Given the description of an element on the screen output the (x, y) to click on. 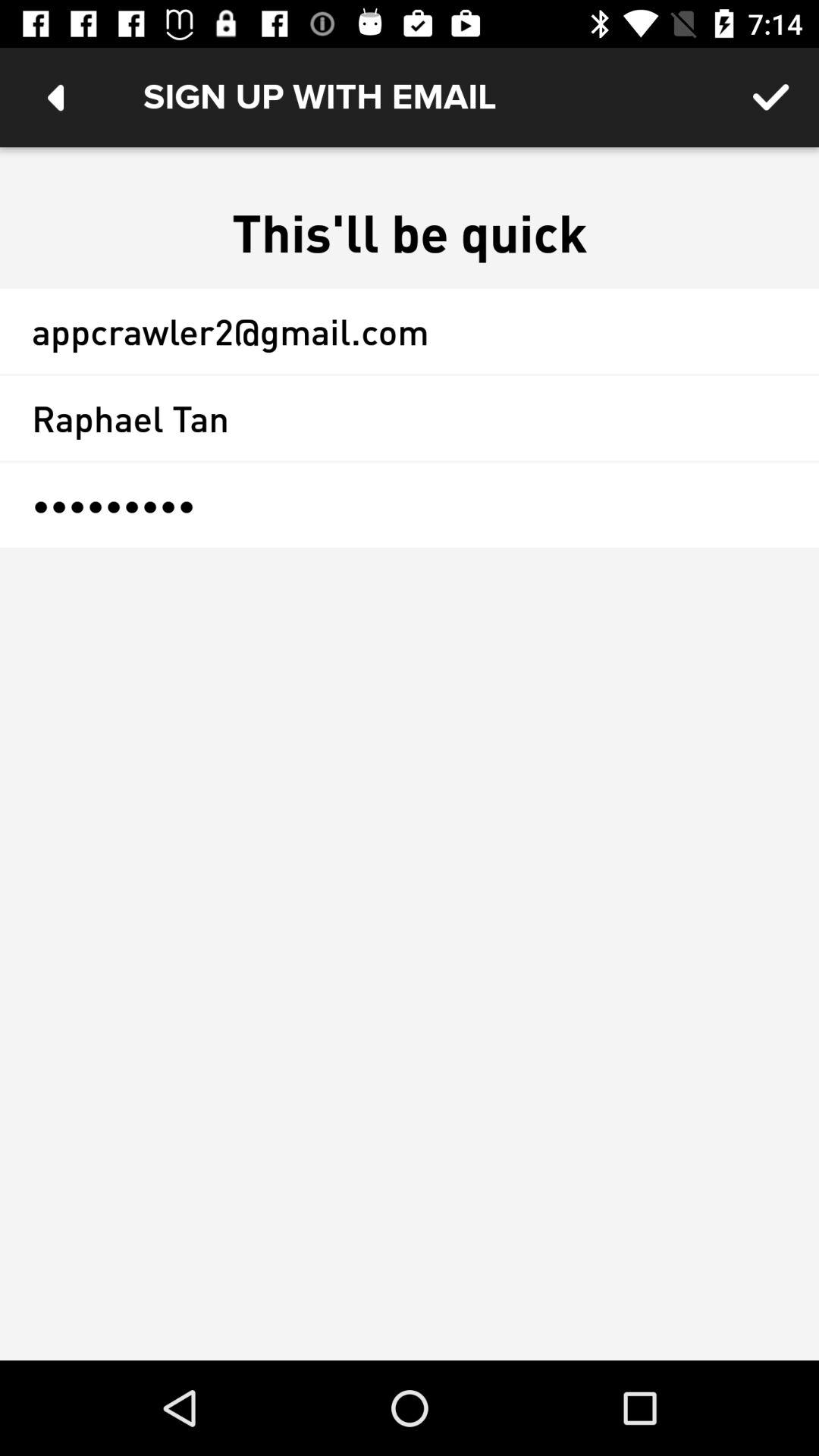
open icon below the appcrawler2@gmail.com item (409, 417)
